Given the description of an element on the screen output the (x, y) to click on. 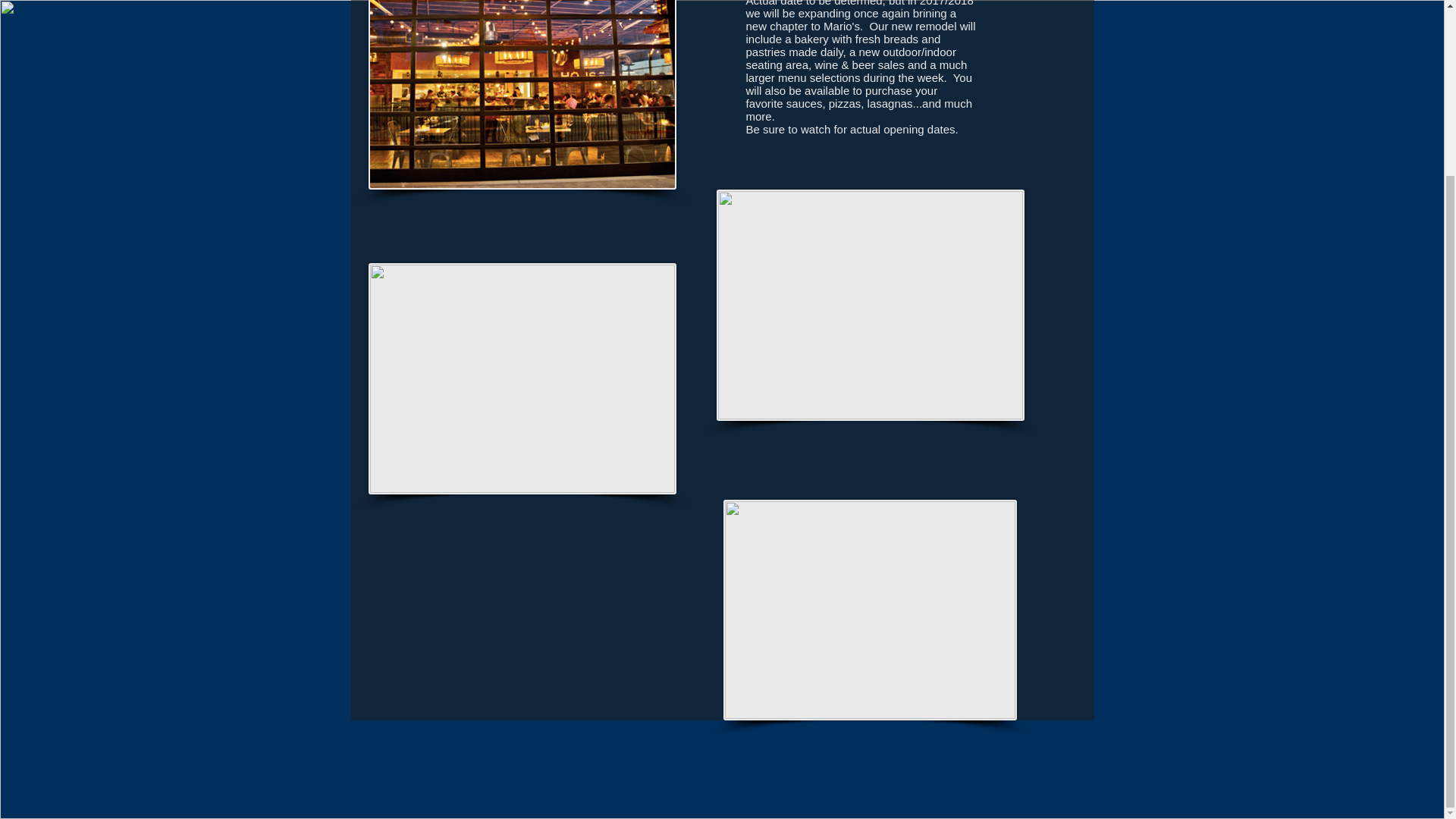
rosetta-italian-bakery.jpg (869, 609)
